Given the description of an element on the screen output the (x, y) to click on. 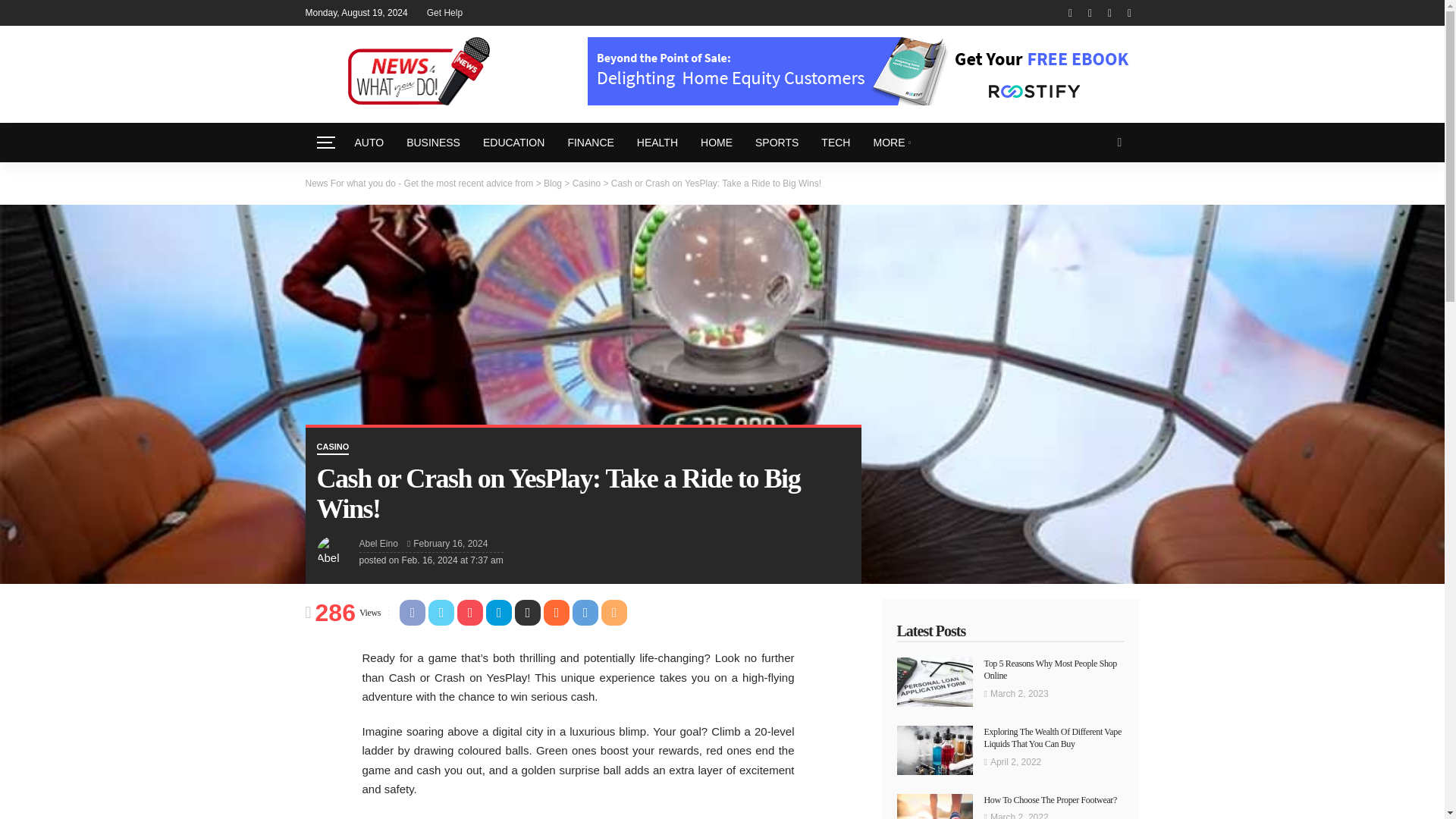
EDUCATION (513, 142)
Blog (552, 182)
News For what you do - Get the most recent advice from (418, 182)
FINANCE (590, 142)
Go to the Casino Category archives. (585, 182)
HOME (716, 142)
Go to Blog. (552, 182)
Casino (585, 182)
search (1118, 142)
MORE (891, 142)
